Given the description of an element on the screen output the (x, y) to click on. 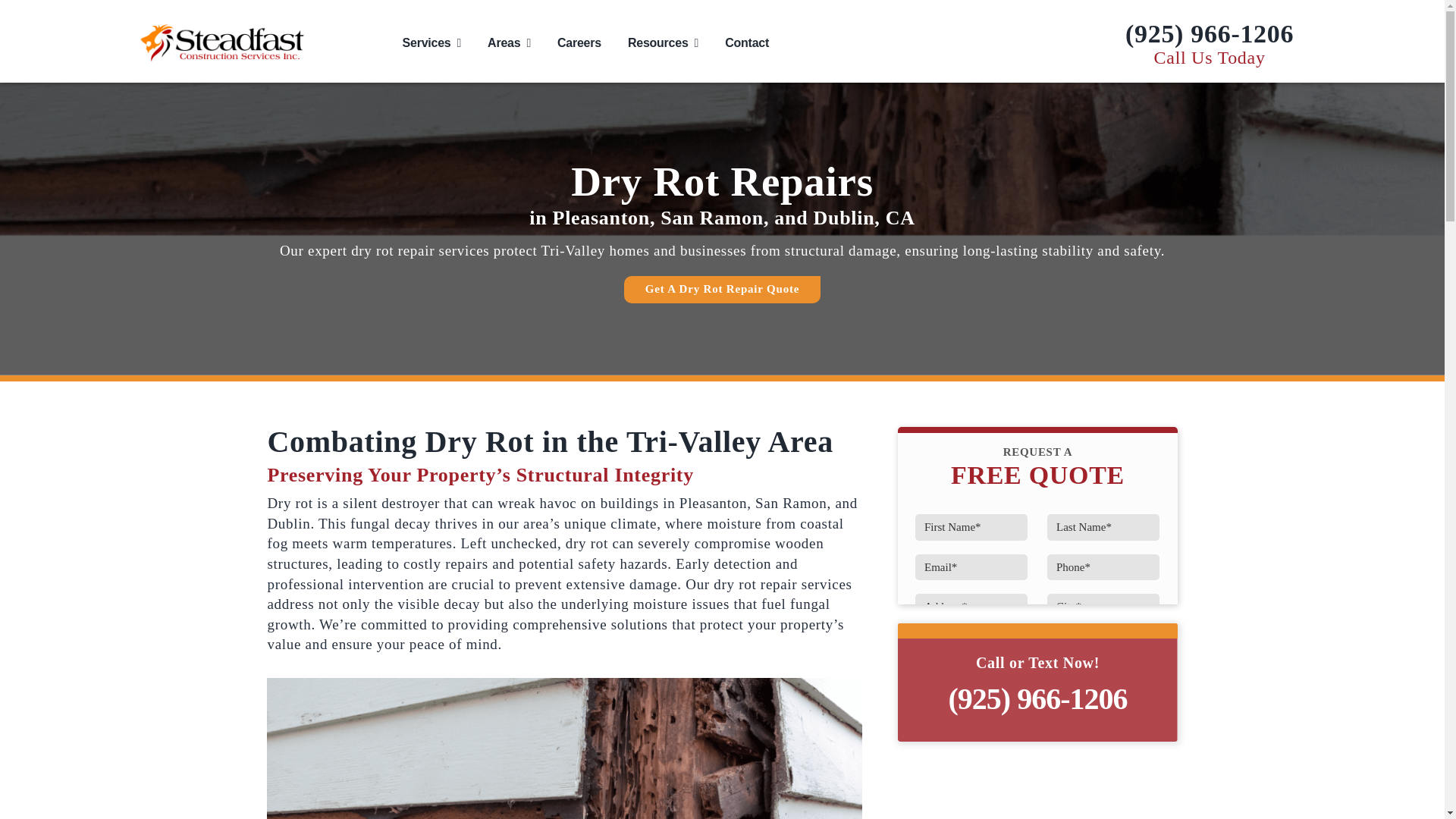
Services (431, 42)
Contact (746, 42)
Dry Rot (563, 748)
Areas (509, 42)
Resources (663, 42)
Careers (579, 42)
